Given the description of an element on the screen output the (x, y) to click on. 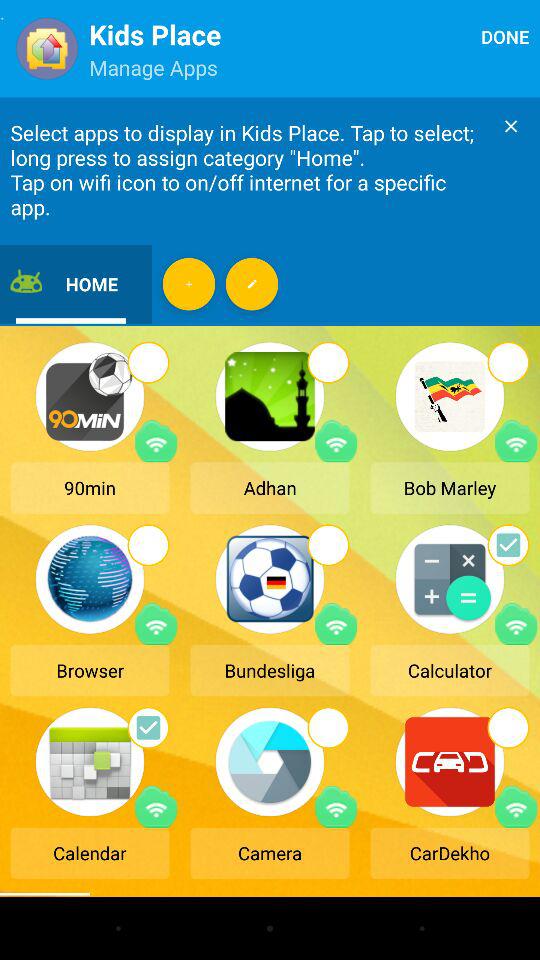
more (251, 284)
